Given the description of an element on the screen output the (x, y) to click on. 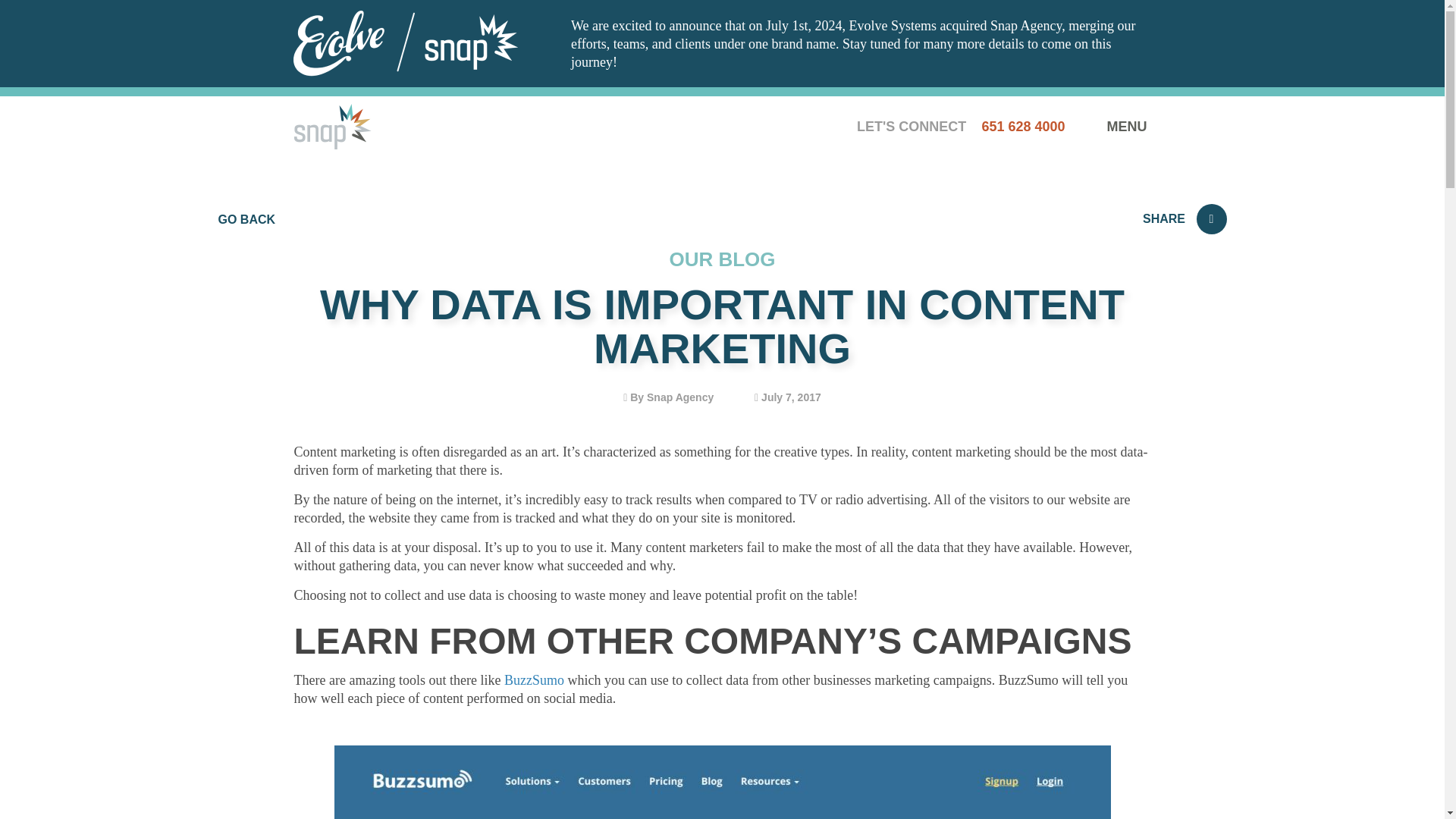
MENU (1128, 126)
651 628 4000 (1024, 126)
LET'S CONNECT (911, 126)
SHARE (1183, 218)
GO BACK (247, 219)
BuzzSumo (533, 679)
